Given the description of an element on the screen output the (x, y) to click on. 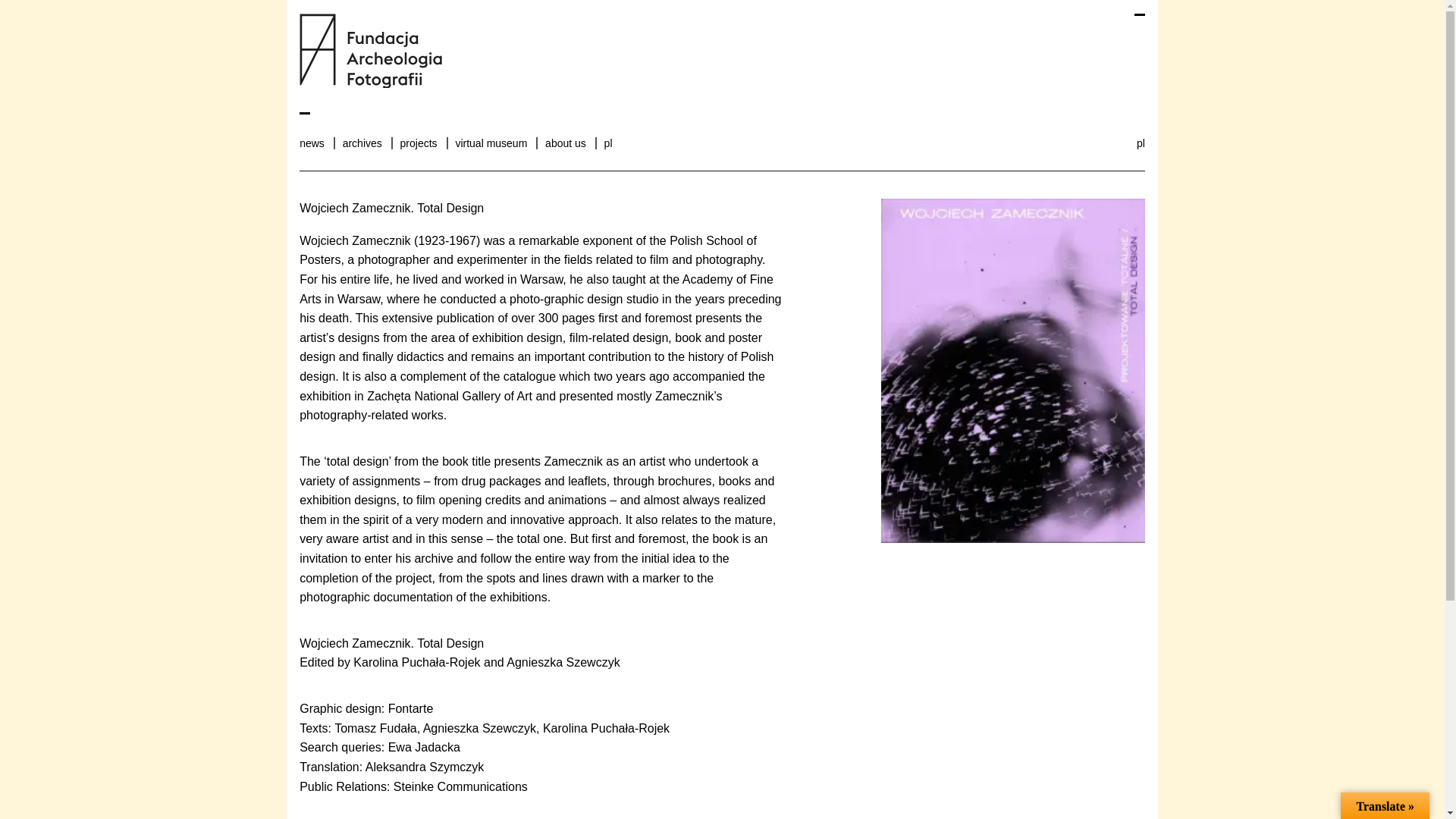
news (311, 143)
virtual museum (490, 143)
archives (361, 143)
about us (565, 143)
projects (419, 143)
